Given the description of an element on the screen output the (x, y) to click on. 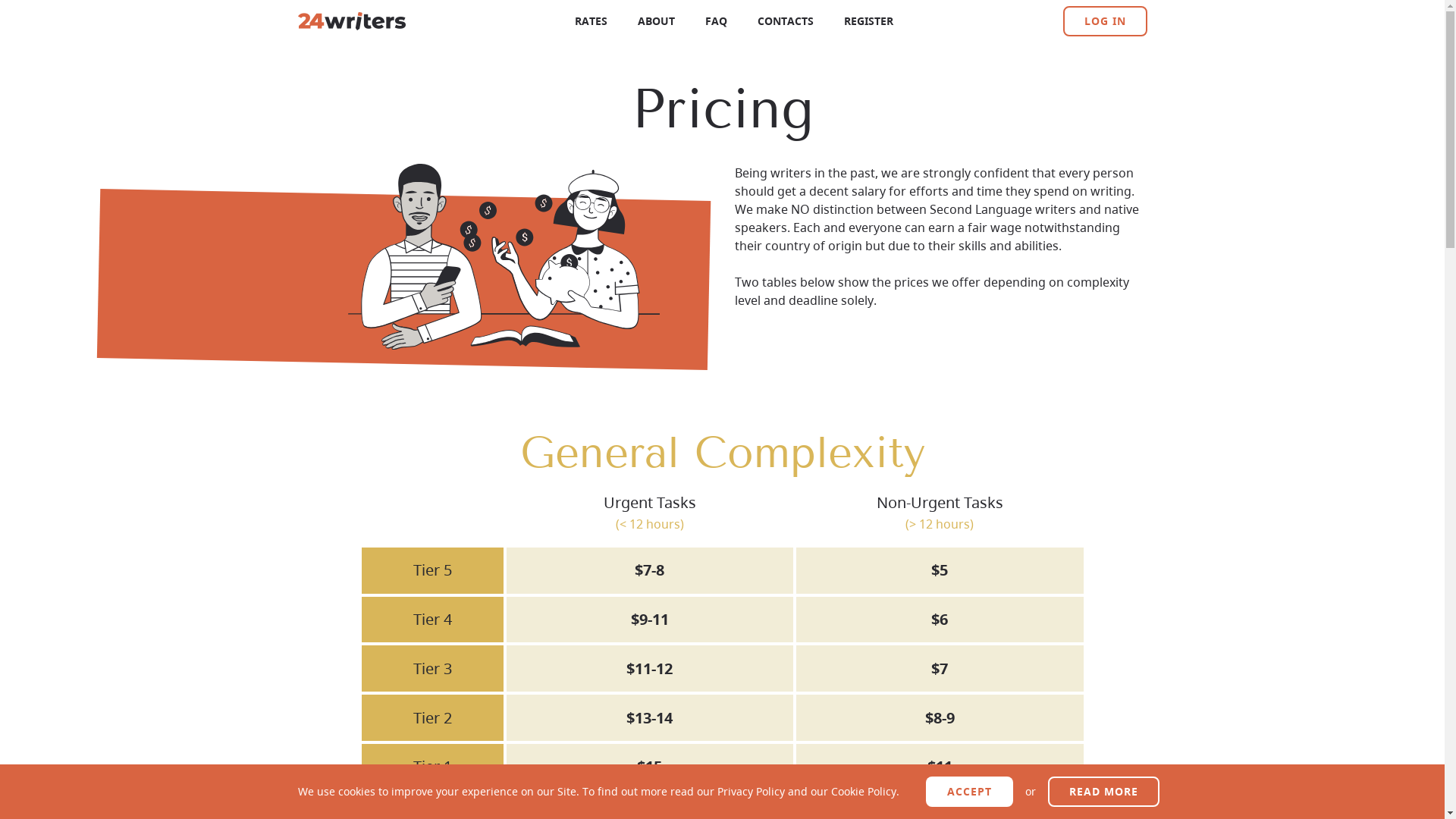
ACCEPT Element type: text (968, 791)
REGISTER Element type: text (868, 20)
CONTACTS Element type: text (785, 20)
24writers.com Element type: hover (350, 21)
ABOUT Element type: text (655, 20)
READ MORE Element type: text (1103, 791)
RATES Element type: text (590, 20)
FAQ Element type: text (716, 20)
LOG IN Element type: text (1105, 21)
